Given the description of an element on the screen output the (x, y) to click on. 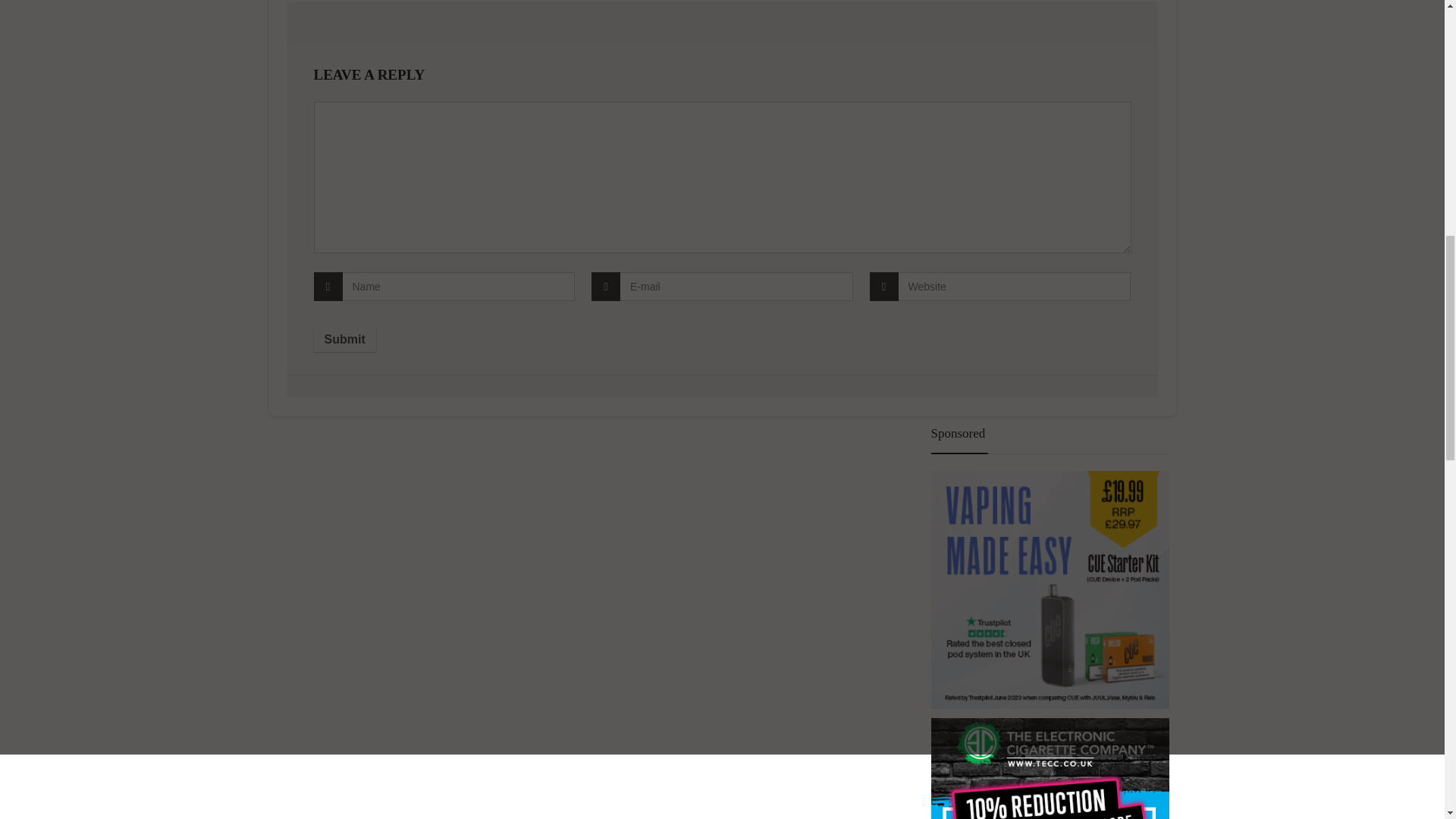
Submit (344, 339)
Submit (344, 339)
